Given the description of an element on the screen output the (x, y) to click on. 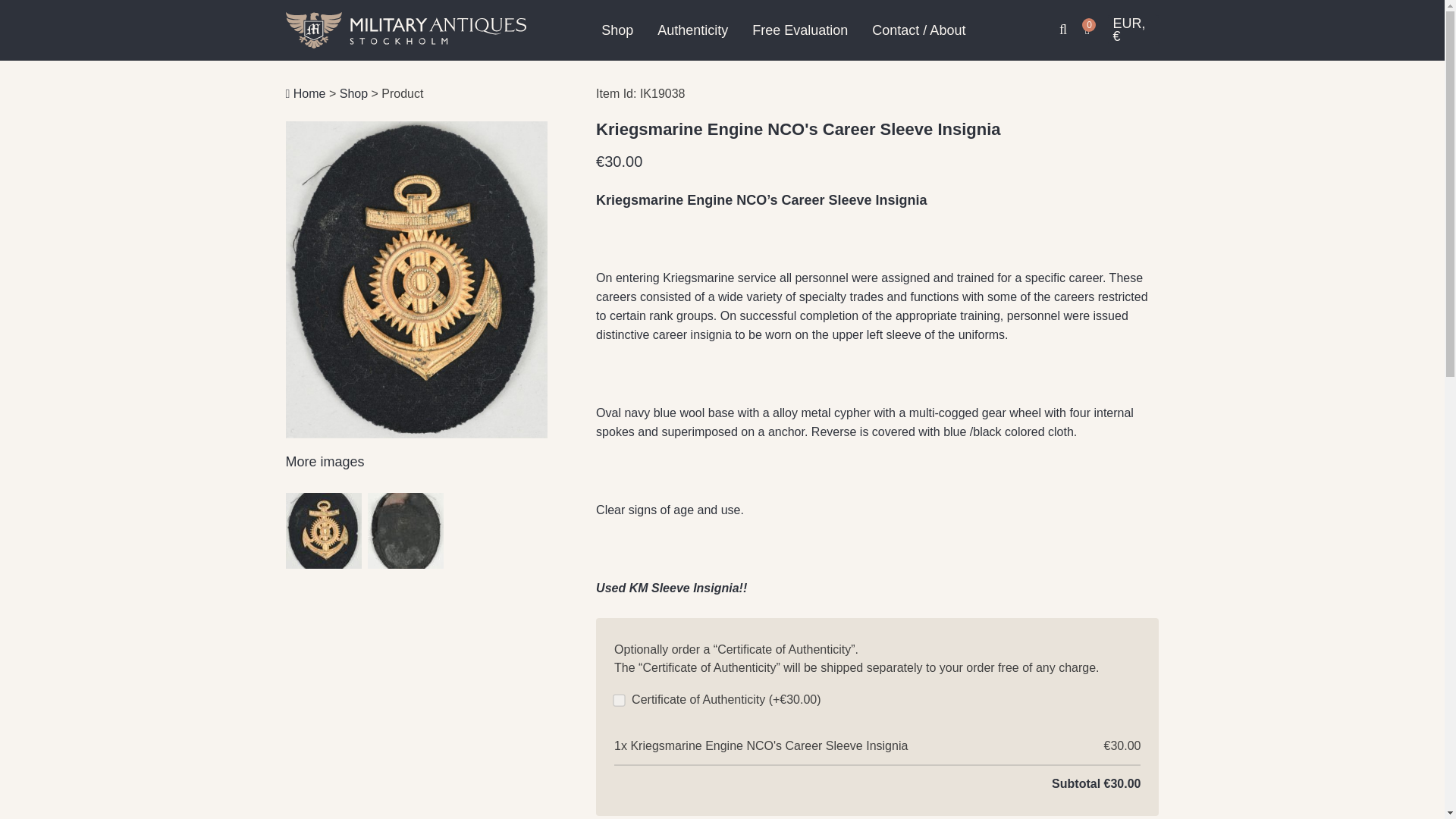
Free Evaluation (799, 29)
Shop (617, 29)
Home (304, 92)
certificate-of-authenticity (617, 698)
Shop (353, 92)
Authenticity (693, 29)
